Given the description of an element on the screen output the (x, y) to click on. 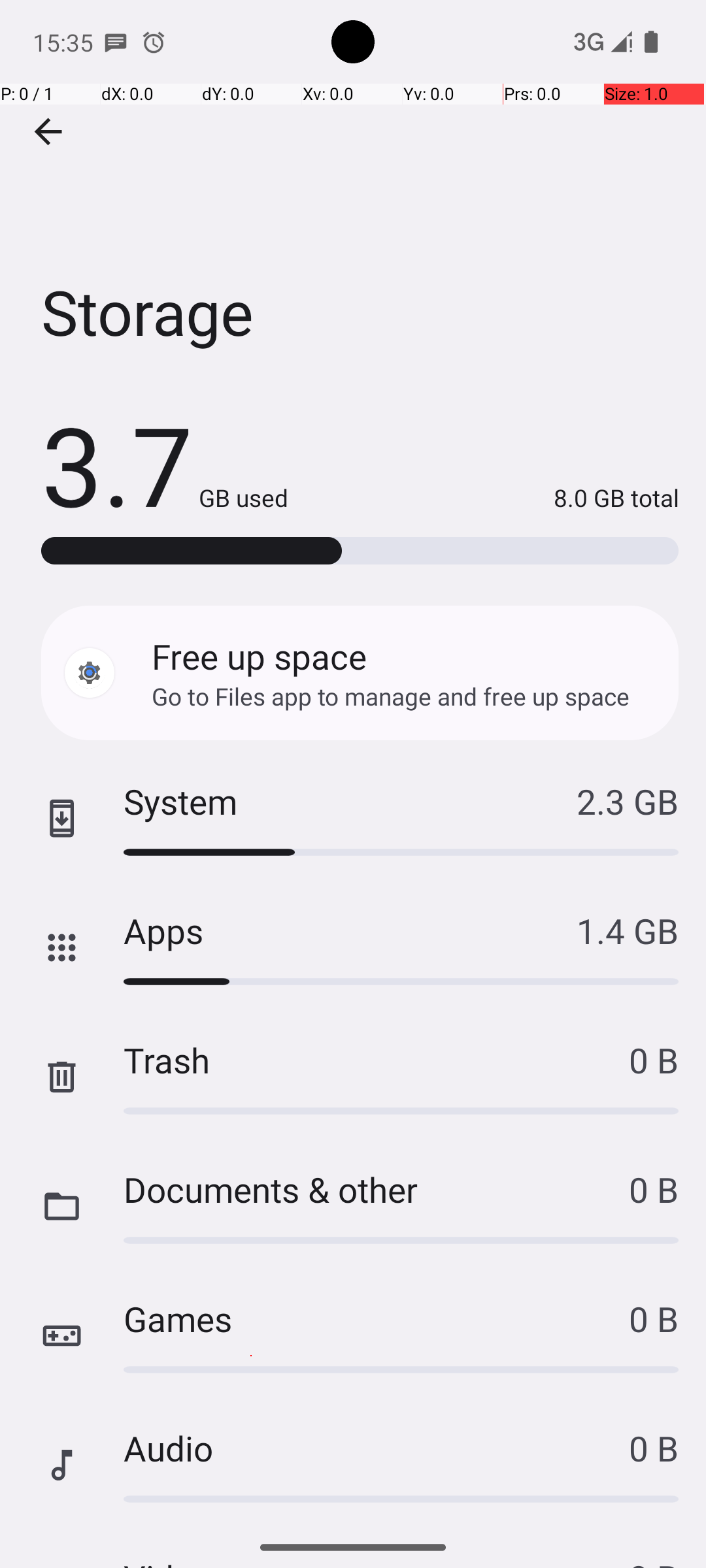
3.7 GB used Element type: android.widget.TextView (164, 463)
